Given the description of an element on the screen output the (x, y) to click on. 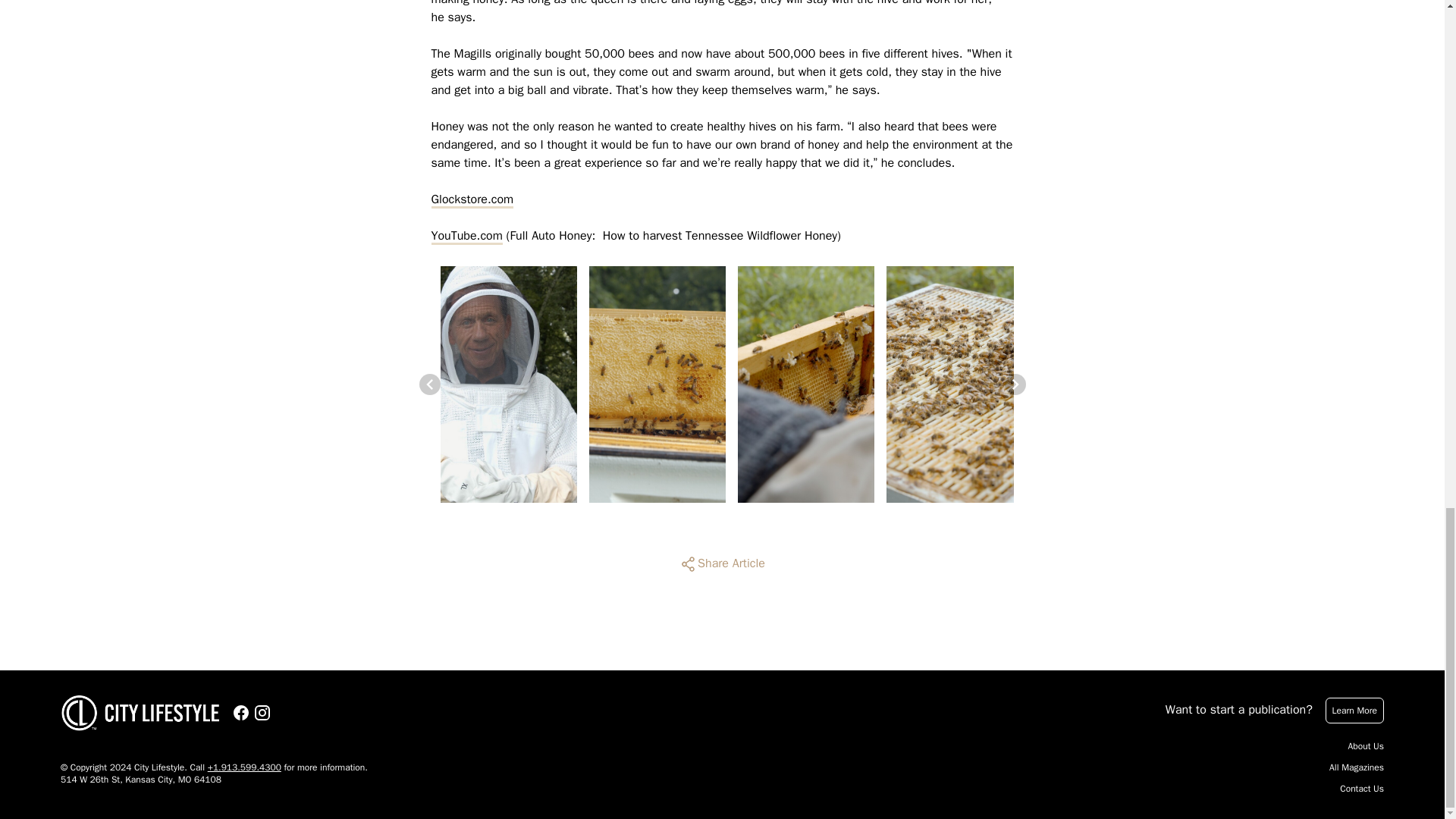
All Magazines (1356, 767)
Contact Us (1361, 788)
About Us (1366, 746)
Glockstore.com (471, 199)
YouTube.com (466, 235)
Share Article (722, 563)
Learn More (1354, 710)
